Given the description of an element on the screen output the (x, y) to click on. 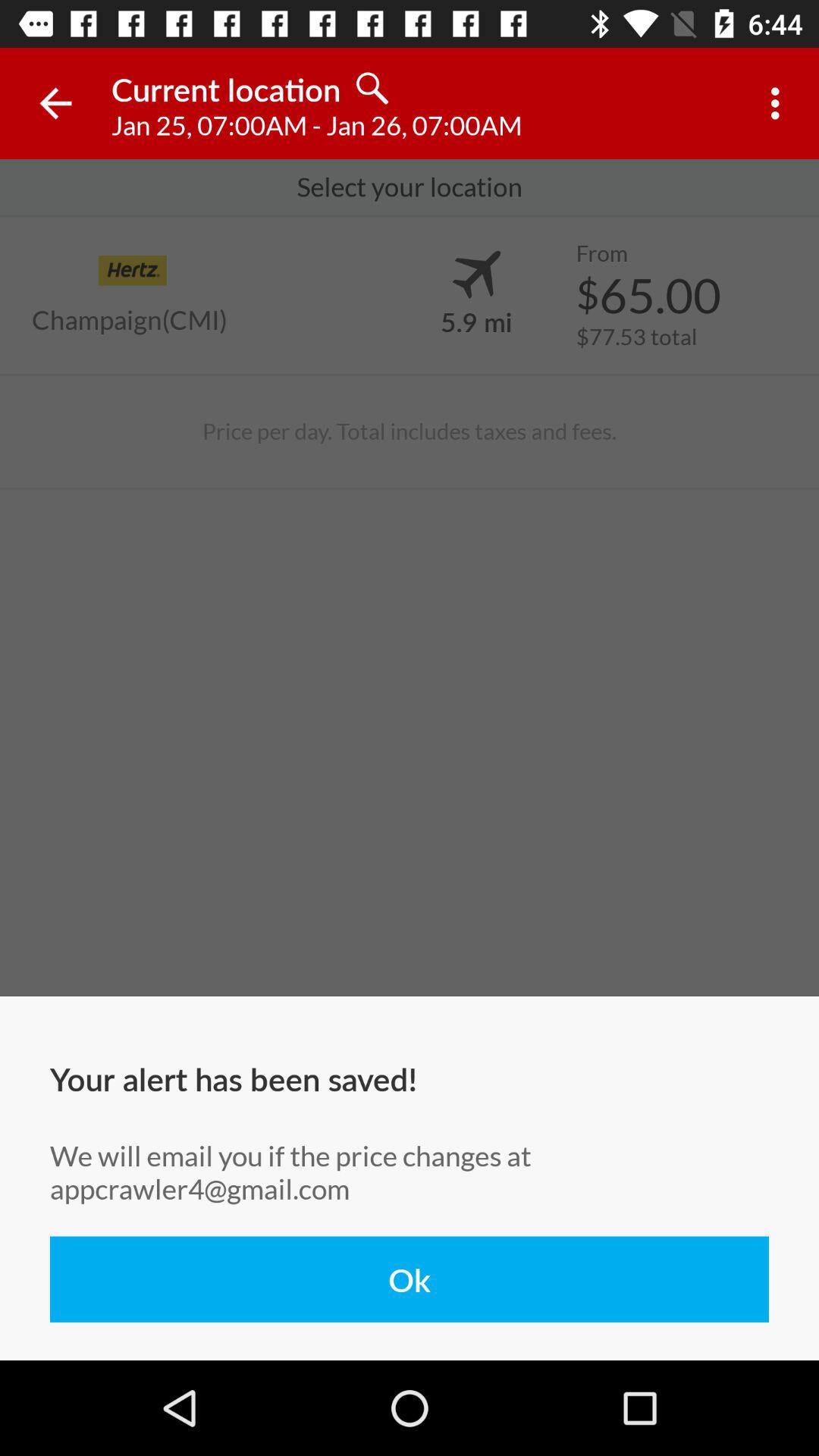
press the price per day icon (409, 431)
